Given the description of an element on the screen output the (x, y) to click on. 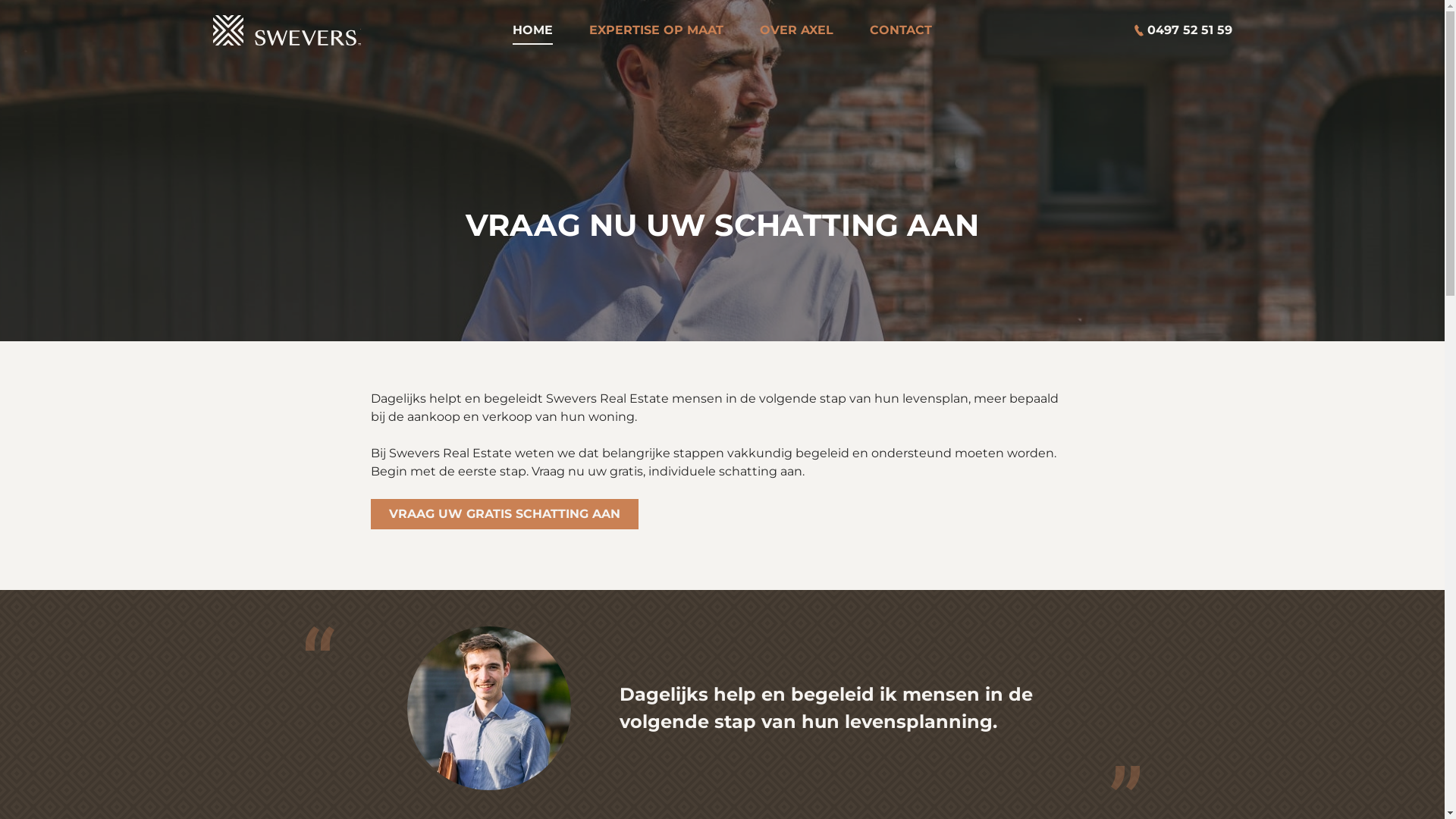
OVER AXEL Element type: text (796, 29)
0497 52 51 59 Element type: text (1175, 30)
Marc Swevers Element type: text (286, 30)
CONTACT Element type: text (900, 29)
EXPERTISE OP MAAT Element type: text (656, 29)
VRAAG UW GRATIS SCHATTING AAN Element type: text (503, 513)
HOME Element type: text (532, 29)
